Given the description of an element on the screen output the (x, y) to click on. 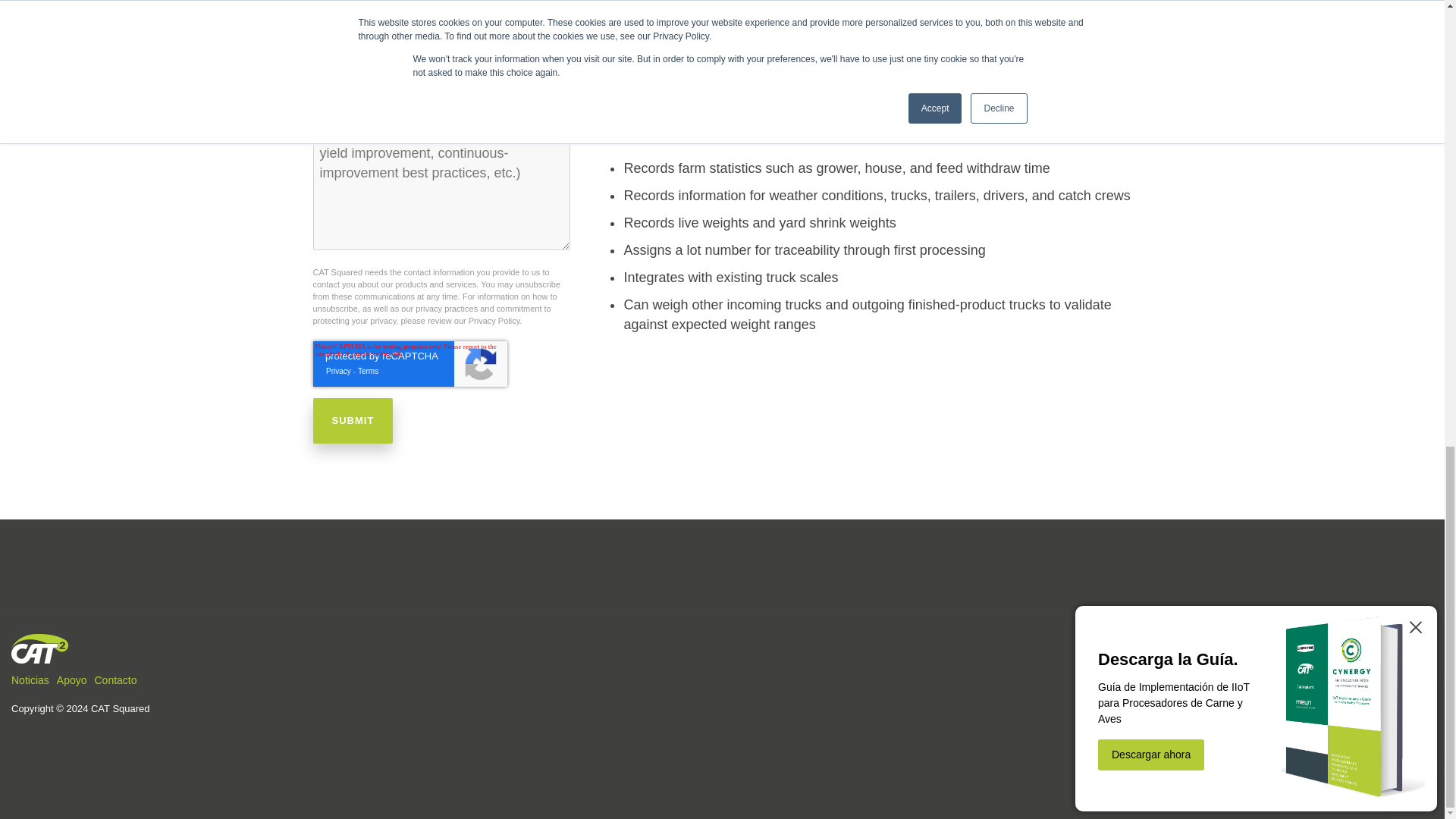
logo-web-footer (39, 648)
reCAPTCHA (409, 363)
Submit (353, 420)
